Given the description of an element on the screen output the (x, y) to click on. 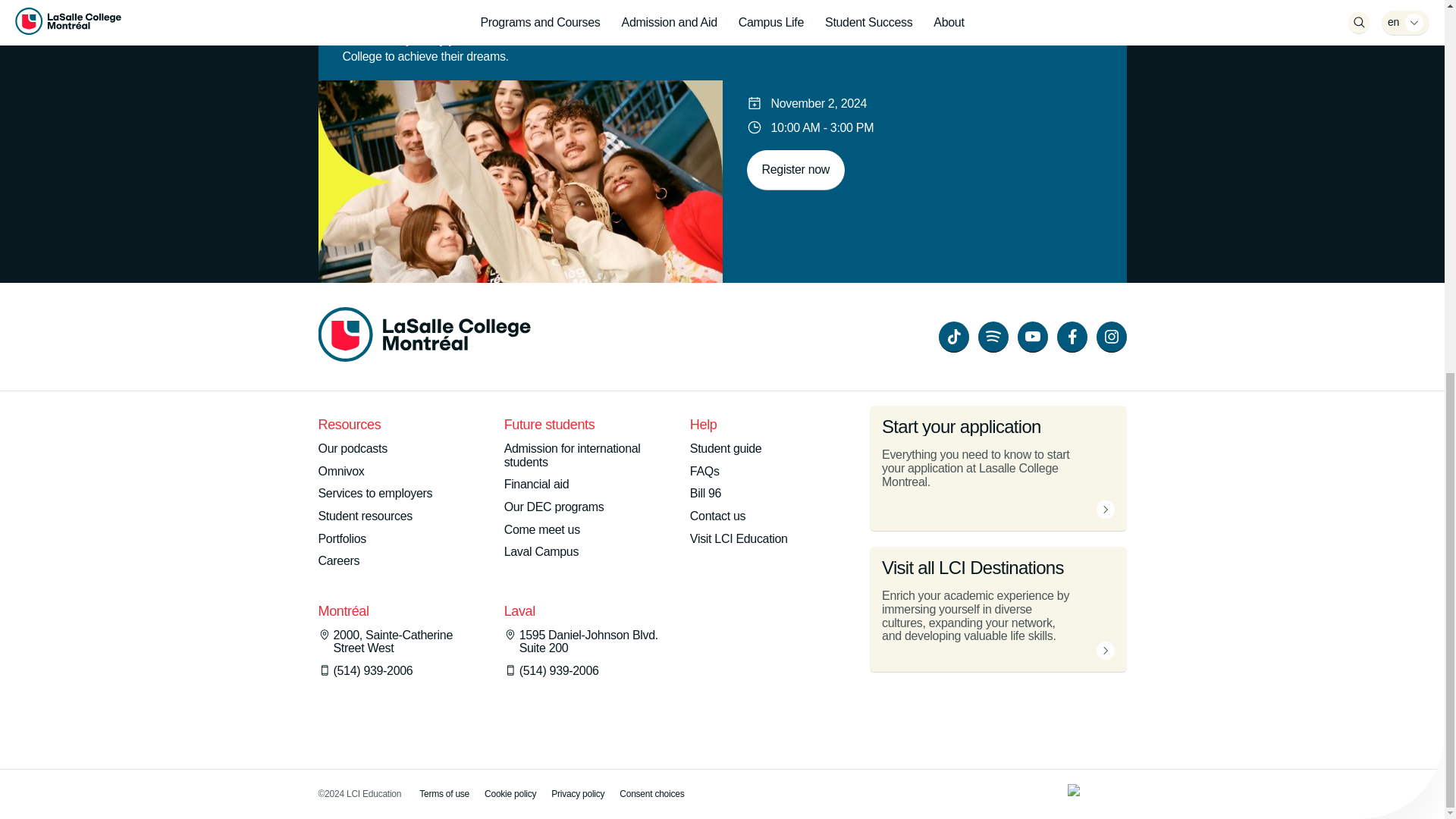
Omnivox (341, 471)
Home (424, 336)
Services to employers (375, 493)
Bill 96 (705, 493)
Come meet us (541, 530)
Portfolios (342, 539)
facebook (1072, 336)
spotify (993, 336)
Laval Campus (540, 551)
tiktok (954, 336)
